Given the description of an element on the screen output the (x, y) to click on. 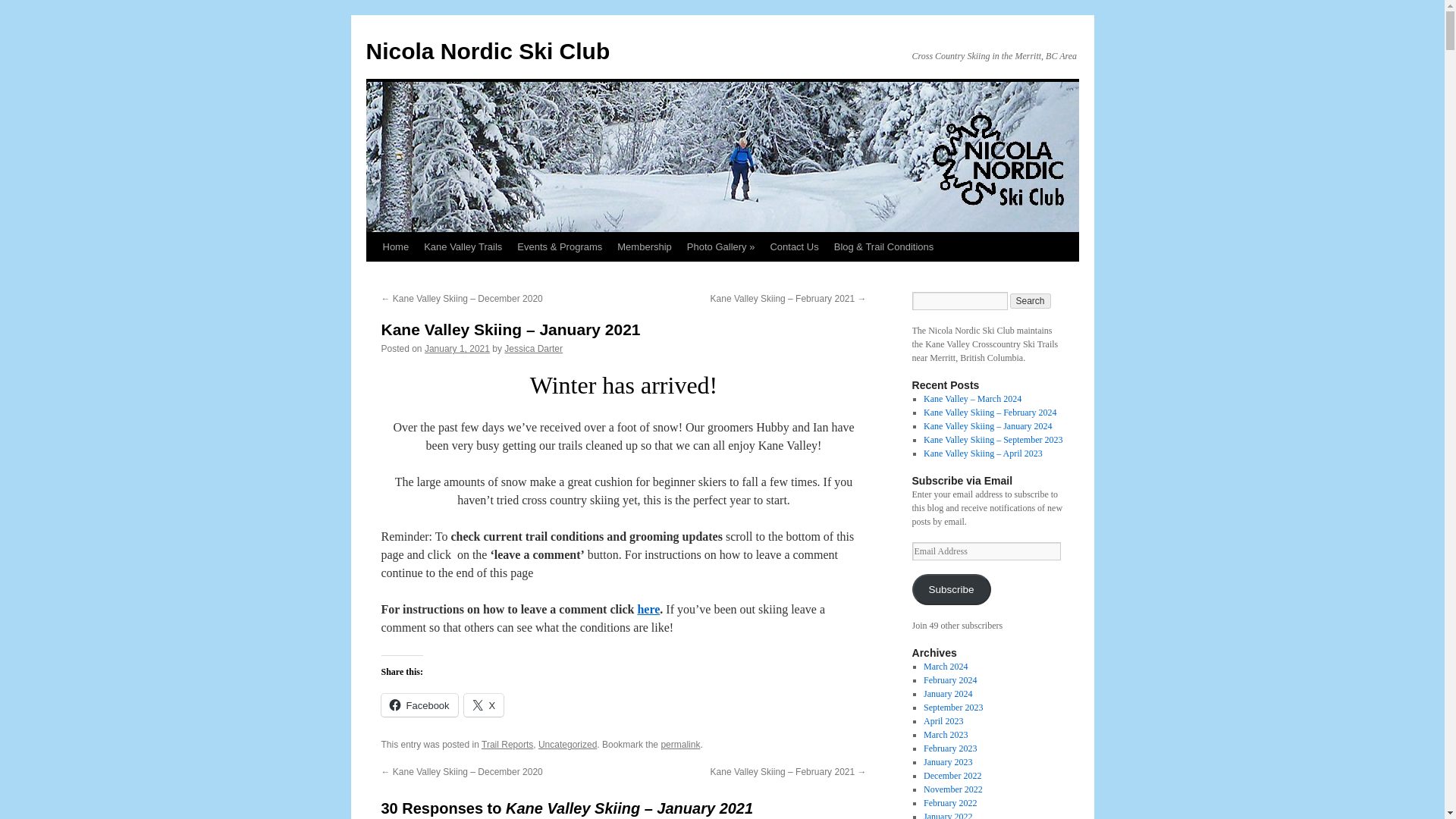
Come ski with us! (395, 246)
View all posts by Jessica Darter (532, 348)
X (483, 704)
Jessica Darter (532, 348)
January 1, 2021 (457, 348)
Home (395, 246)
Uncategorized (567, 744)
Trail Reports (506, 744)
Click to share on X (483, 704)
Click to share on Facebook (418, 704)
